Given the description of an element on the screen output the (x, y) to click on. 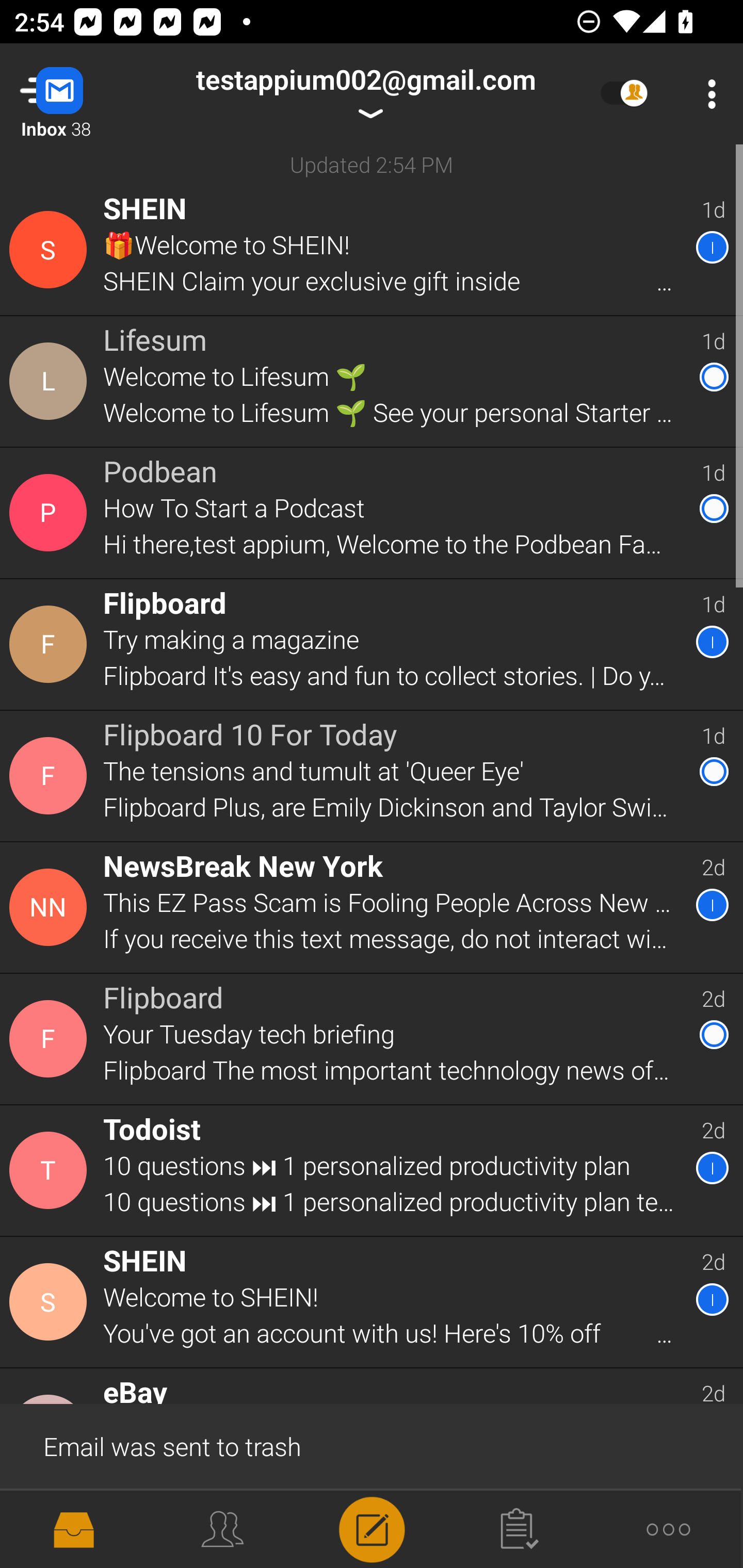
Navigate up (81, 93)
testappium002@gmail.com (365, 93)
More Options (706, 93)
Updated 2:54 PM (371, 164)
Contact Details (50, 250)
Contact Details (50, 381)
Contact Details (50, 513)
Contact Details (50, 644)
Contact Details (50, 776)
Contact Details (50, 907)
Contact Details (50, 1038)
Contact Details (50, 1170)
Contact Details (50, 1302)
Email was sent to trash (371, 1445)
Compose (371, 1529)
